Given the description of an element on the screen output the (x, y) to click on. 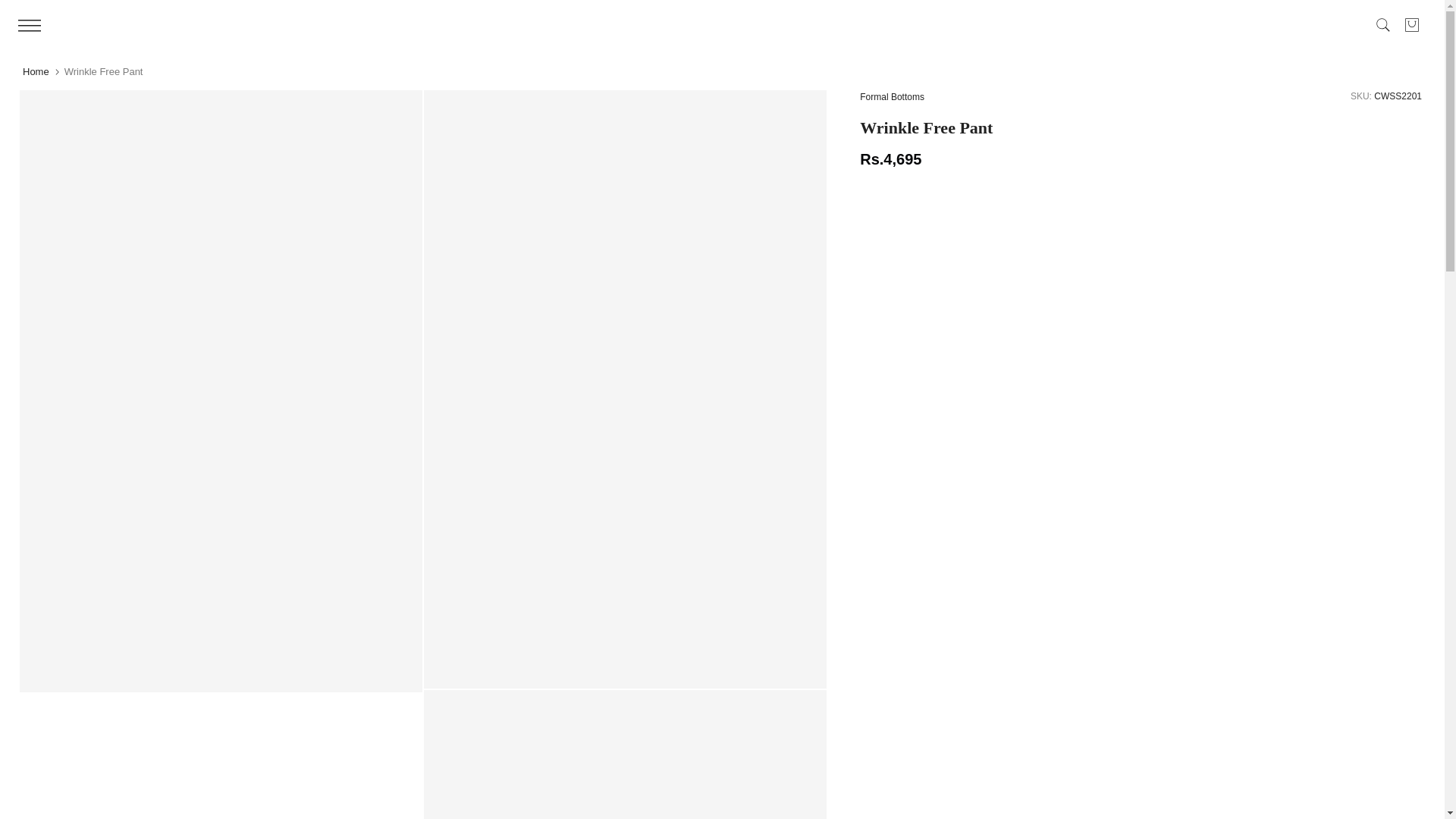
Skip to content (10, 7)
Home (36, 71)
Formal Bottoms (892, 96)
